Given the description of an element on the screen output the (x, y) to click on. 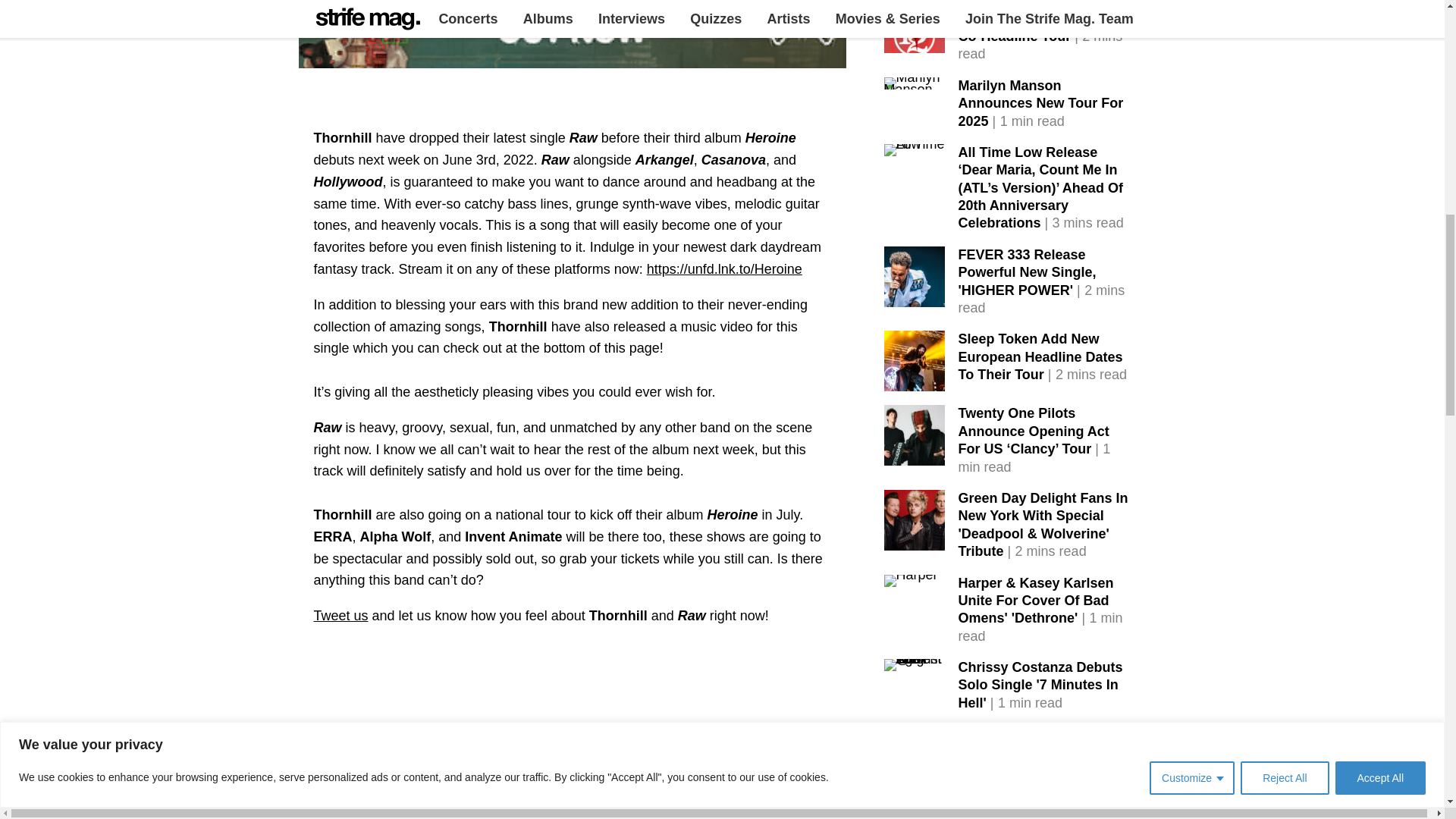
Harper - Strife Mag (910, 580)
Marilyn Manson - Strife Mag (913, 82)
Green Day 2024 - Strife Mag (913, 519)
Twenty One Pilots Clancy era - Strife Mag (913, 435)
All Time Low - Strife Mag (913, 150)
Palaye Royale - Strife Mag (913, 731)
Against The Current Rock Am Ring 2024-8 - Strife Mag (913, 664)
